Given the description of an element on the screen output the (x, y) to click on. 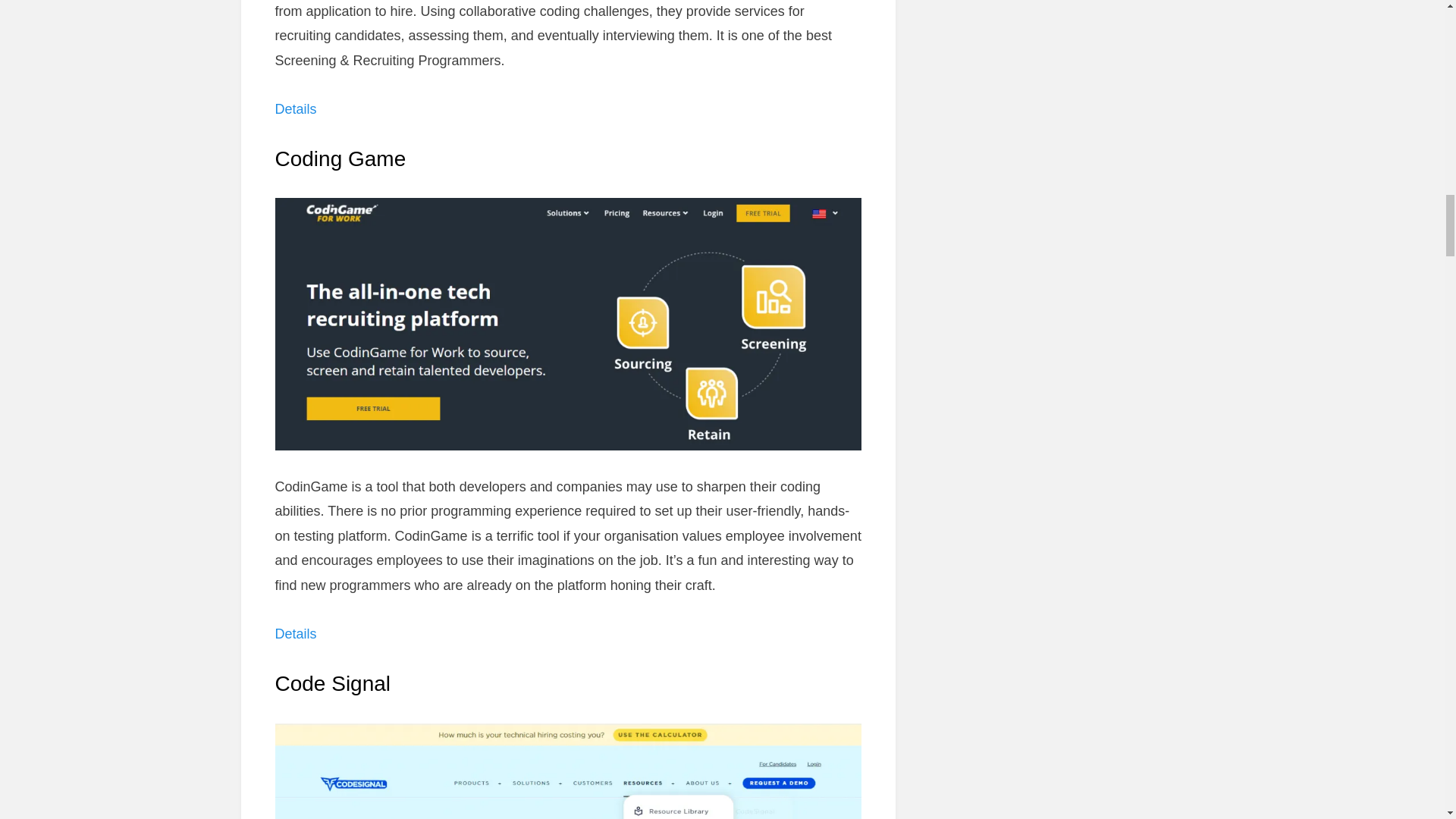
Details (295, 109)
Details (295, 633)
